Given the description of an element on the screen output the (x, y) to click on. 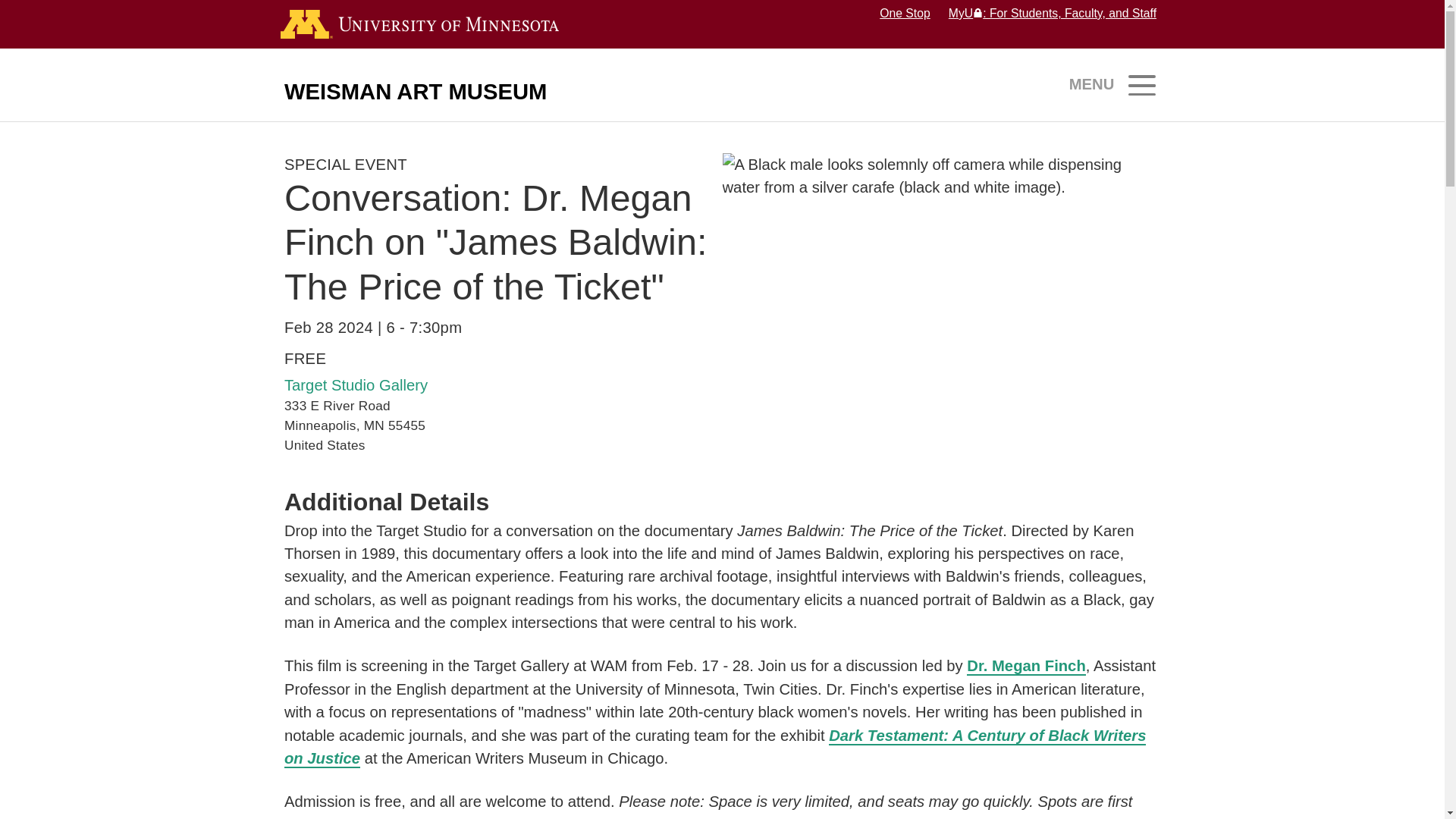
MyU: For Students, Faculty, and Staff (1052, 12)
One Stop (904, 12)
WEISMAN ART MUSEUM (415, 90)
